Given the description of an element on the screen output the (x, y) to click on. 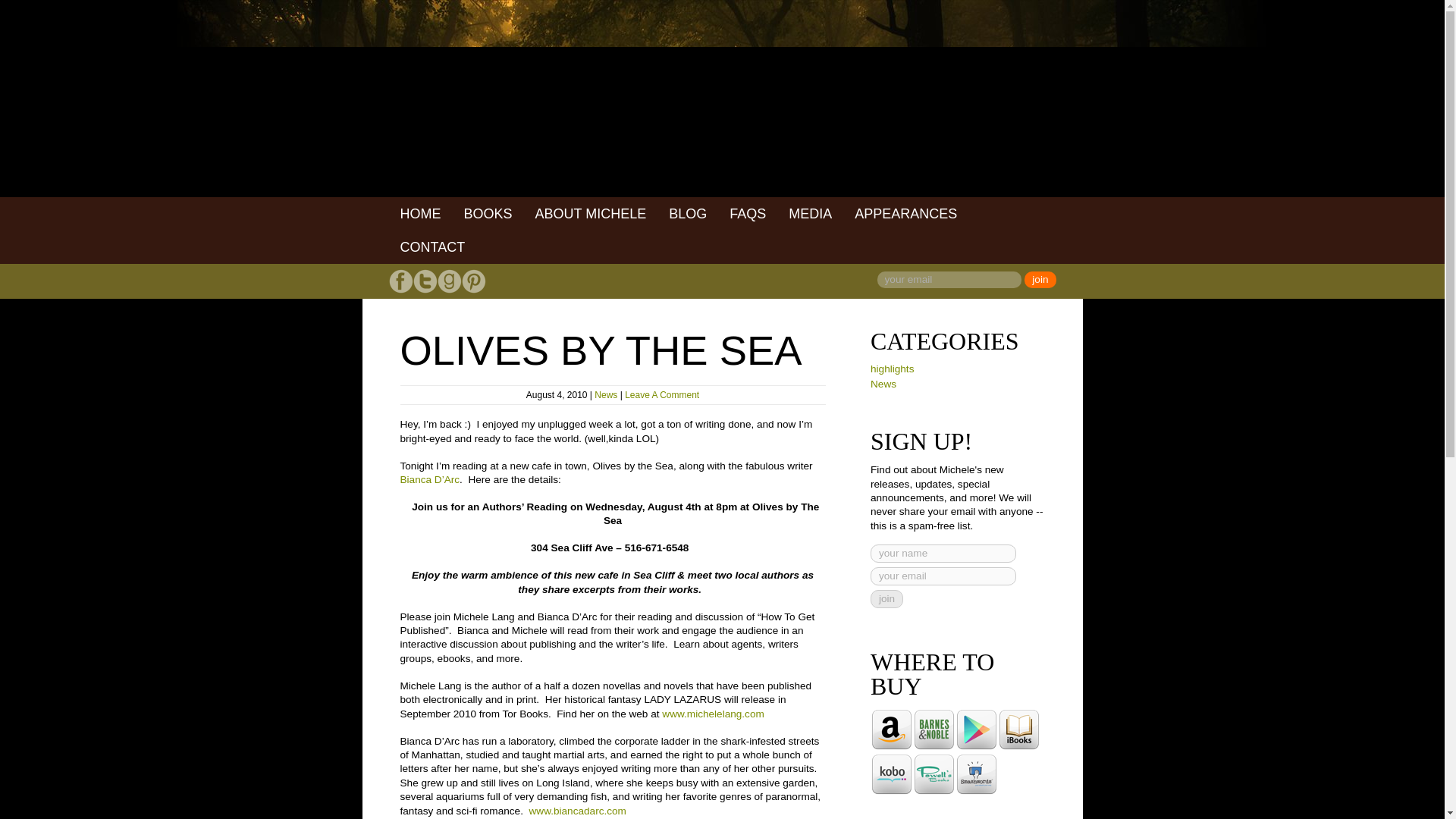
join (1040, 279)
HOME (419, 213)
join (886, 598)
BOOKS (486, 213)
